Given the description of an element on the screen output the (x, y) to click on. 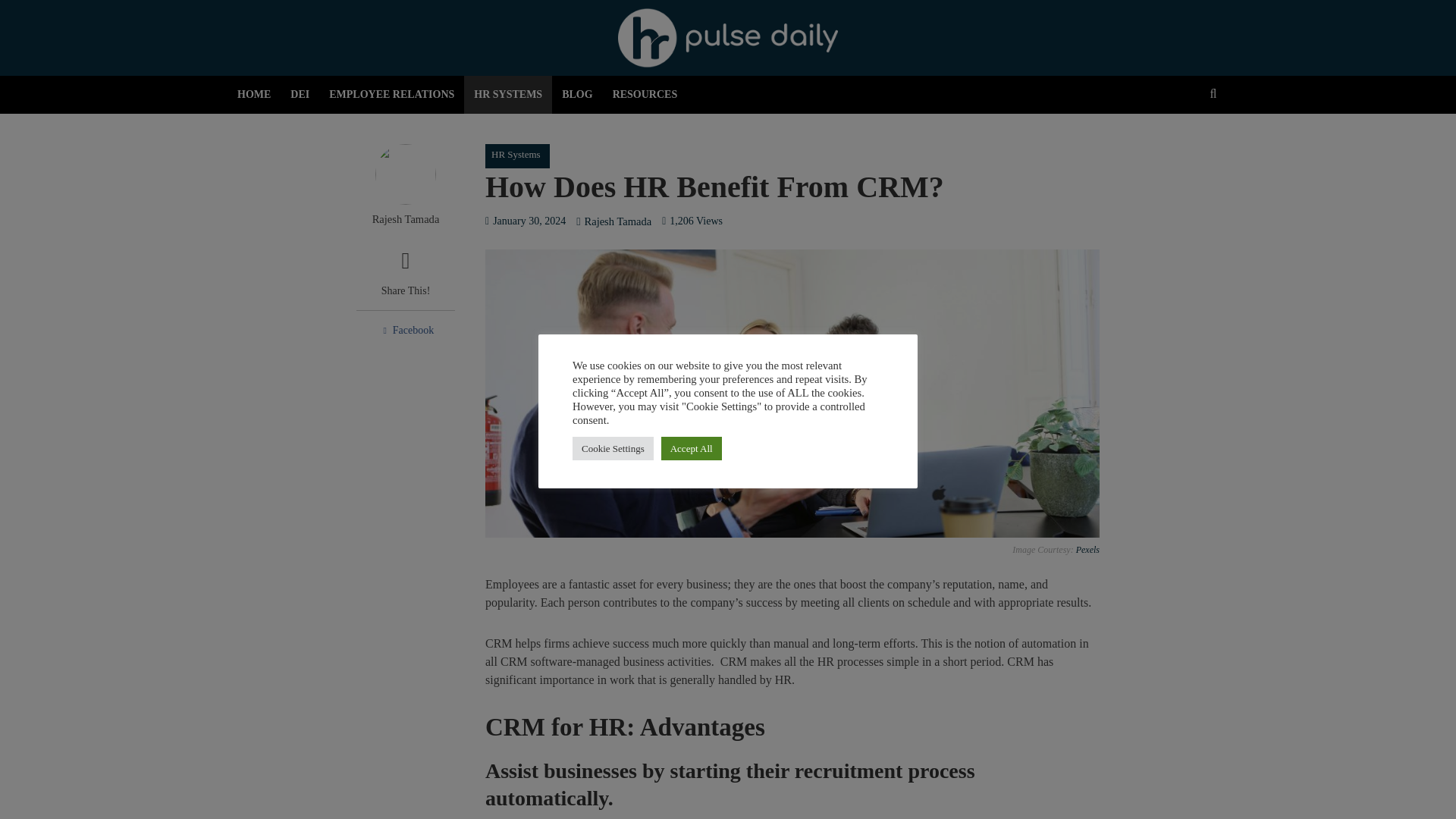
Rajesh Tamada (616, 222)
EMPLOYEE RELATIONS (391, 94)
LinkedIn (609, 329)
Facebook (405, 329)
X (507, 329)
HR SYSTEMS (507, 94)
BLOG (576, 94)
Rajesh Tamada (405, 219)
DEI (299, 94)
RESOURCES (644, 94)
